Given the description of an element on the screen output the (x, y) to click on. 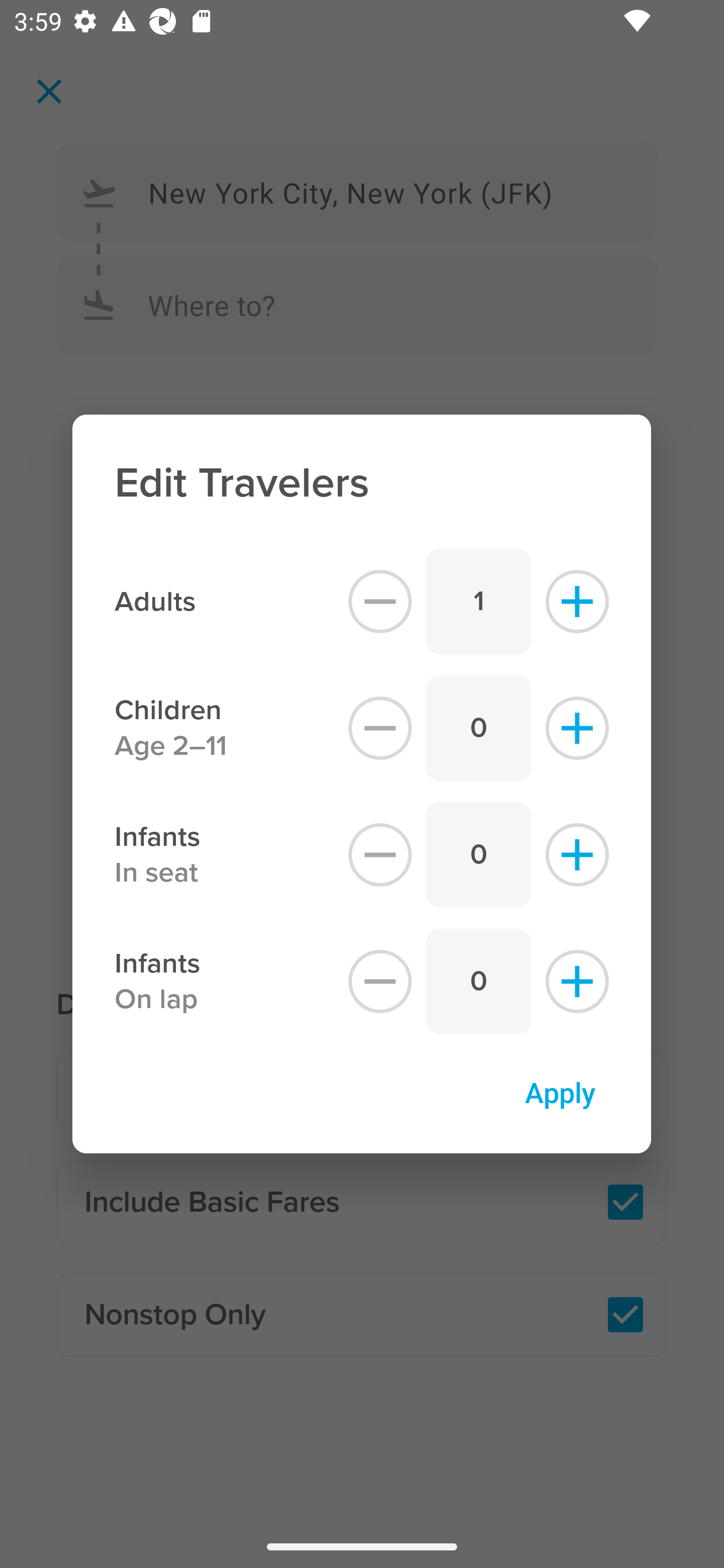
Decrease value (379, 600)
Increase value (576, 600)
Decrease value (379, 727)
Increase value (576, 727)
Decrease value (379, 854)
Increase value (576, 854)
Decrease value (379, 981)
Increase value (576, 981)
Apply (559, 1091)
